Given the description of an element on the screen output the (x, y) to click on. 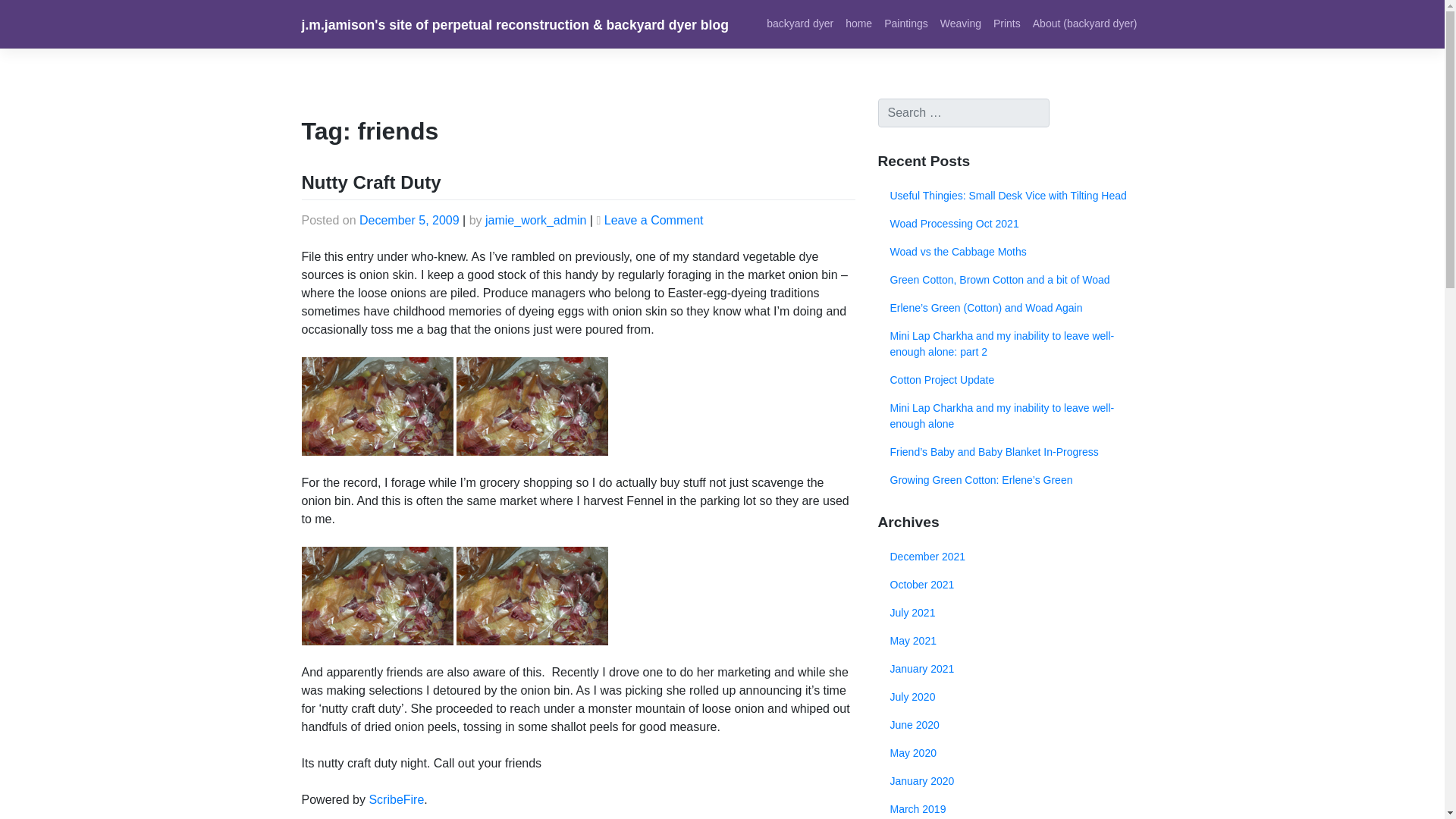
July 2021 (1009, 612)
Search for: (963, 112)
June 2020 (1009, 725)
home (858, 23)
December 5, 2009 (409, 219)
Woad Processing Oct 2021 (1009, 223)
July 2020 (1009, 697)
Green Cotton, Brown Cotton and a bit of Woad (1009, 280)
October 2021 (1009, 584)
